Given the description of an element on the screen output the (x, y) to click on. 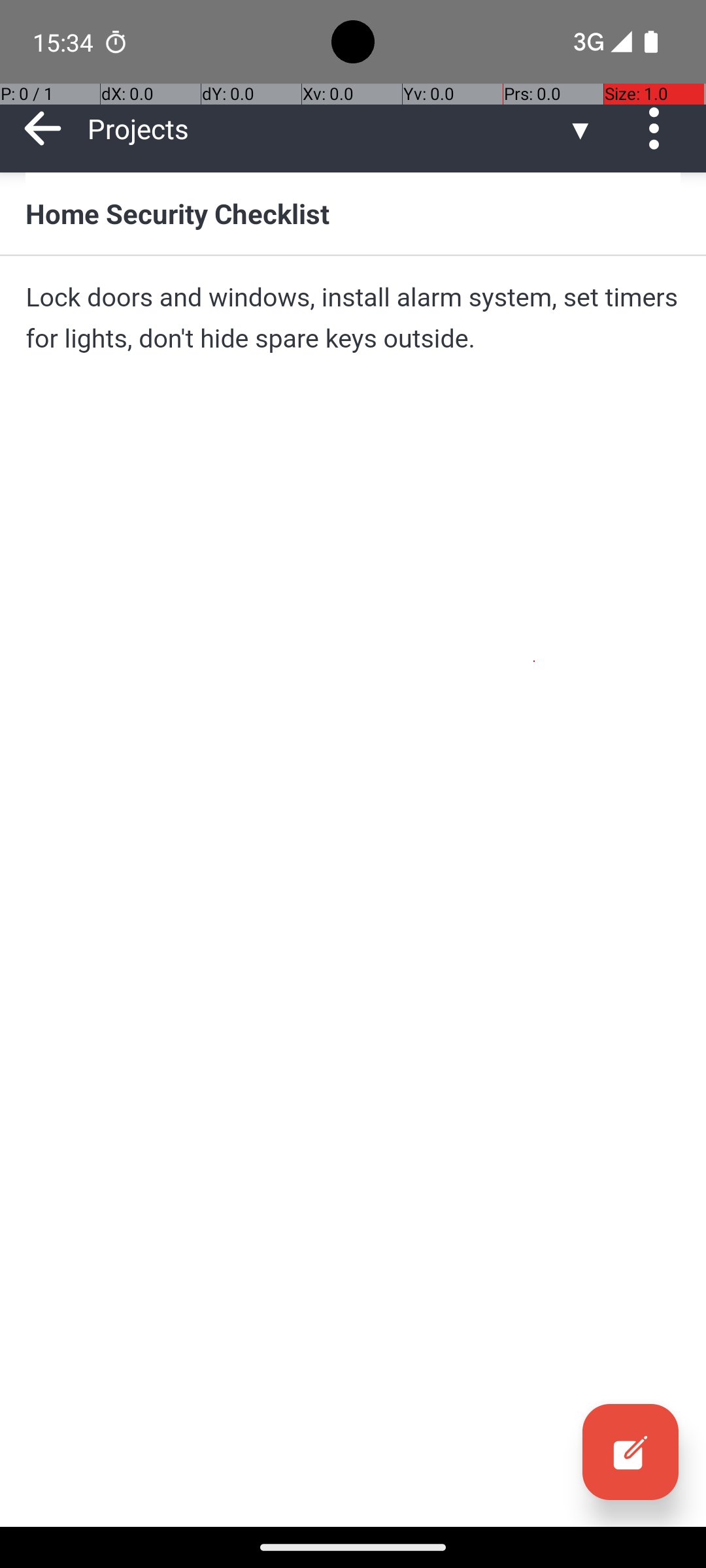
Home Security Checklist Element type: android.widget.EditText (352, 213)
Lock doors and windows, install alarm system, set timers for lights, don't hide spare keys outside. Element type: android.widget.TextView (352, 317)
